Given the description of an element on the screen output the (x, y) to click on. 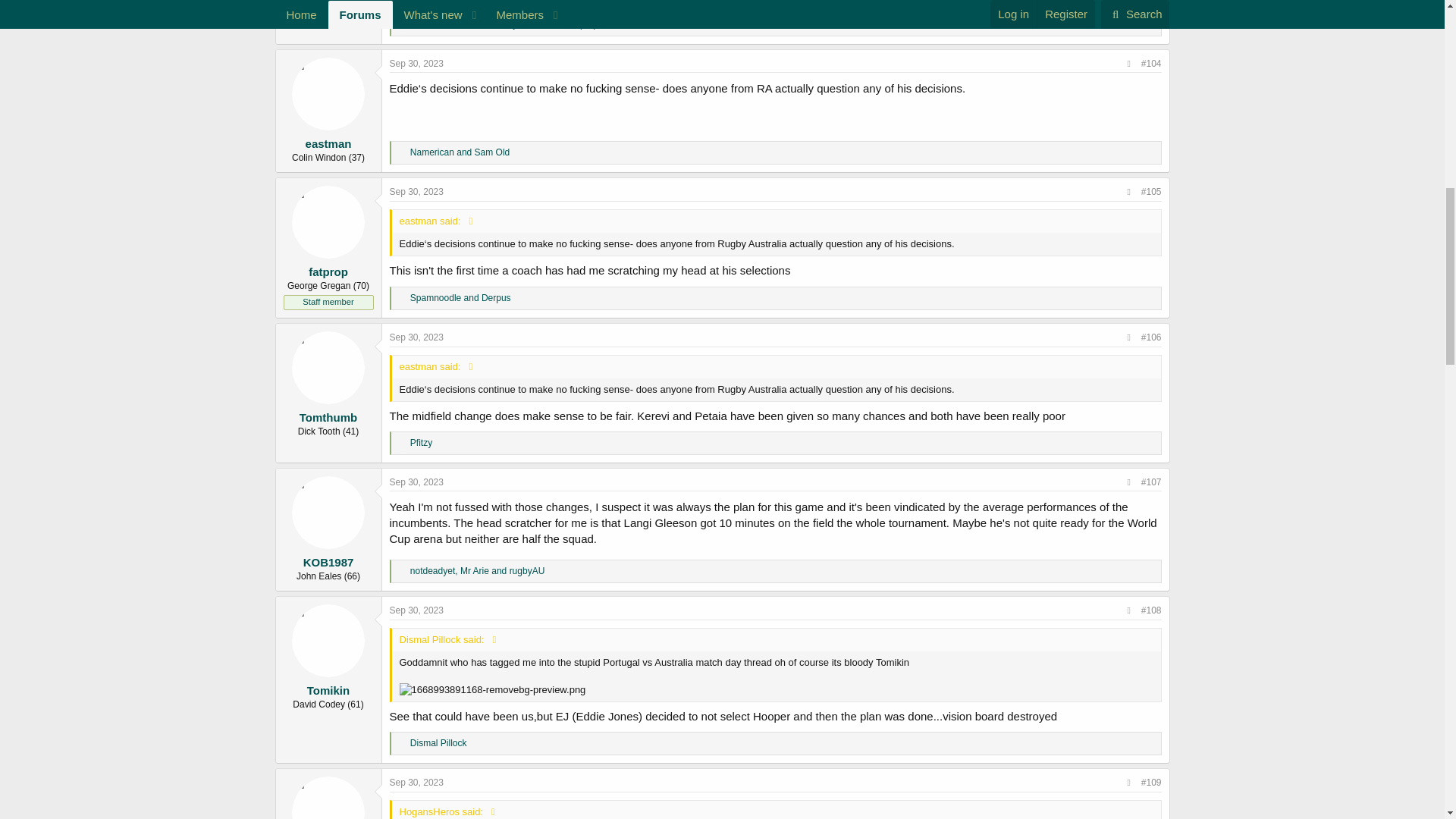
Like (401, 24)
Sep 30, 2023 at 5:53 AM (417, 191)
Like (401, 152)
Sep 30, 2023 at 4:28 AM (417, 63)
